Given the description of an element on the screen output the (x, y) to click on. 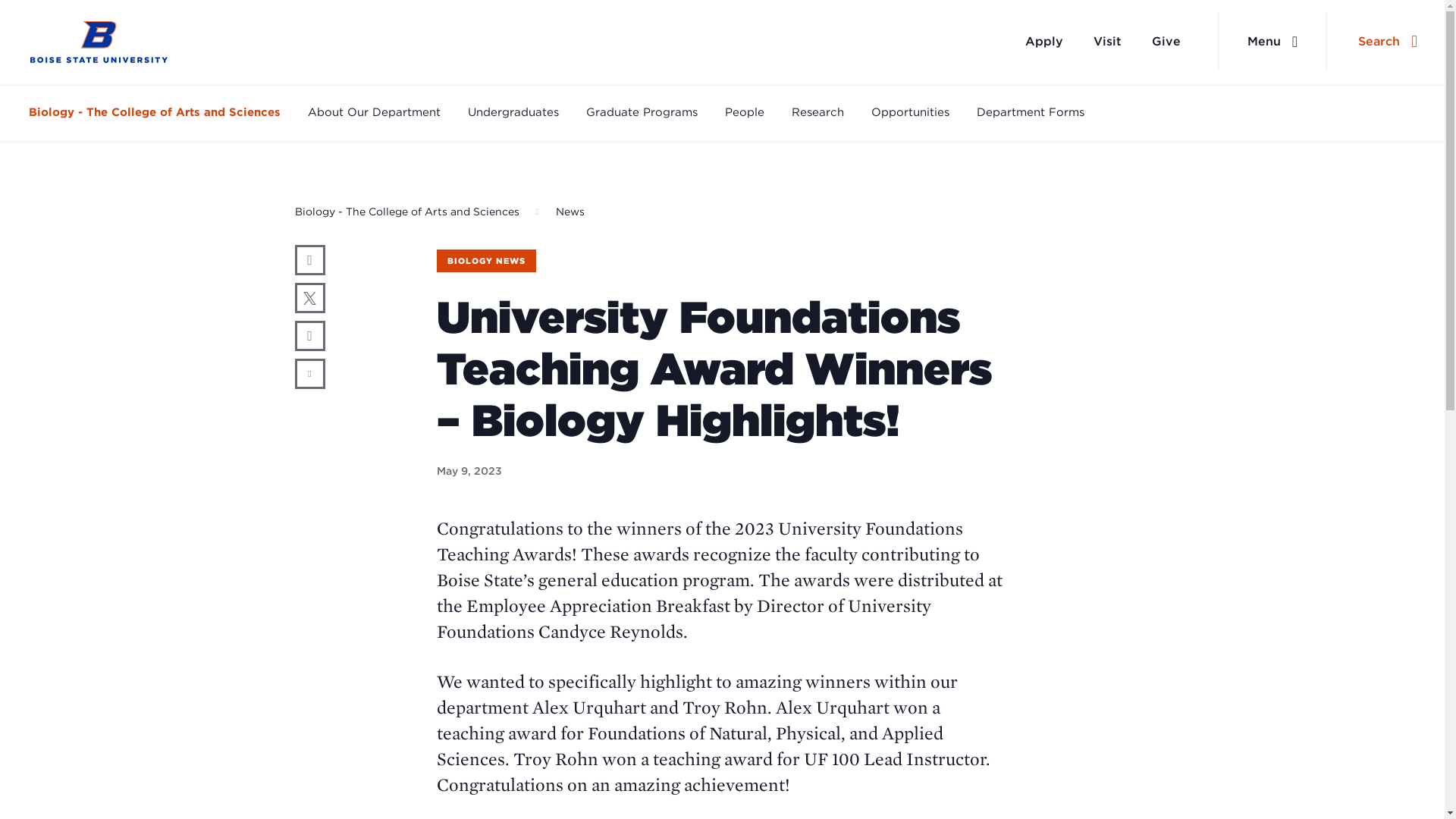
News (570, 211)
Share through Email (309, 373)
Department Forms (1030, 112)
Apply (1044, 41)
Biology - The College of Arts and Sciences Home (98, 41)
Share on Facebook (309, 259)
Share on Facebook (309, 259)
Share on LinkedIn (309, 336)
About Our Department (374, 112)
Biology - The College of Arts and Sciences (406, 211)
Menu (1272, 41)
BIOLOGY NEWS (485, 260)
Share on Twitter (309, 297)
Opportunities (909, 112)
Visit (1107, 41)
